Given the description of an element on the screen output the (x, y) to click on. 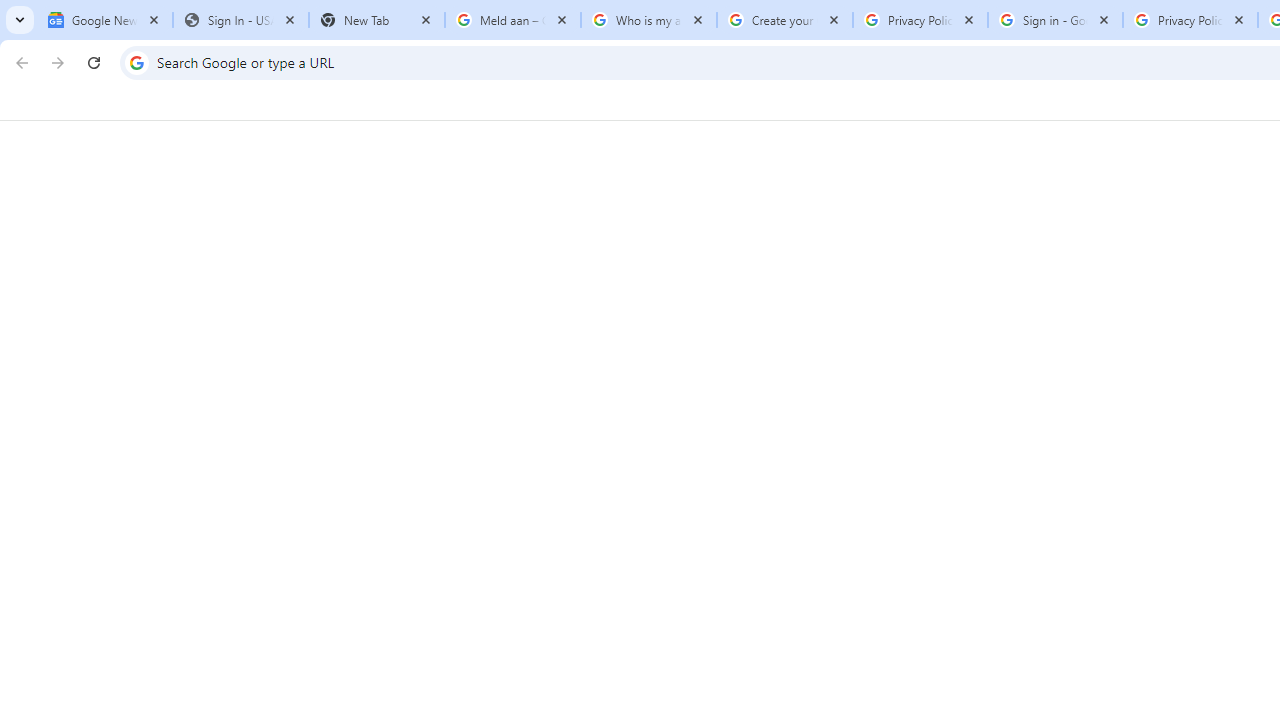
Sign In - USA TODAY (240, 20)
